Given the description of an element on the screen output the (x, y) to click on. 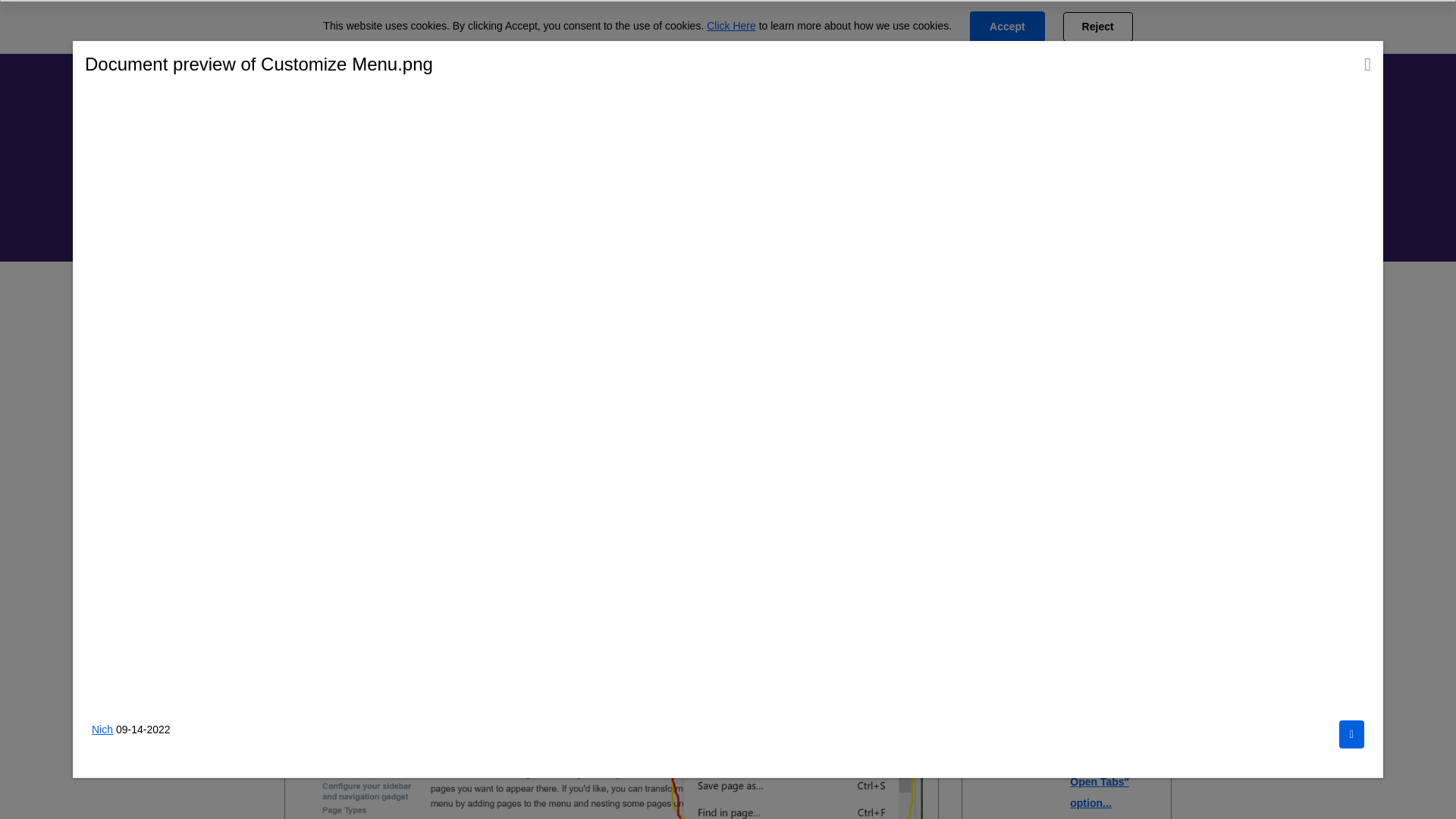
Ideas (395, 293)
Community (613, 39)
Ideas (416, 39)
New idea (368, 483)
Search (453, 158)
Show option menu (1142, 294)
Mozilla Connect (324, 293)
Mozilla Connect (330, 39)
seedgal (384, 425)
Discussions (506, 39)
